Given the description of an element on the screen output the (x, y) to click on. 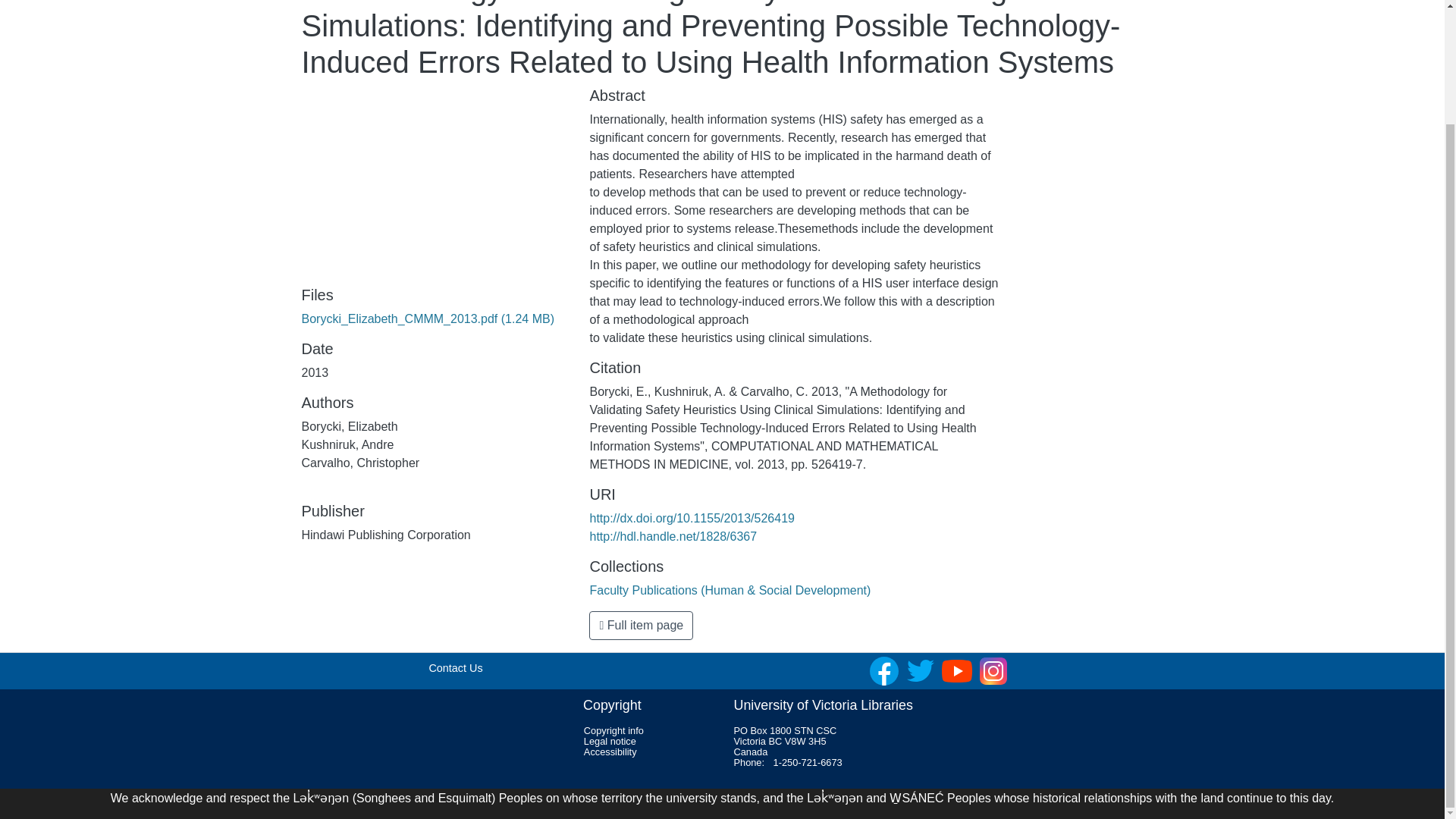
Full item page (641, 624)
Contact Us (454, 667)
